Given the description of an element on the screen output the (x, y) to click on. 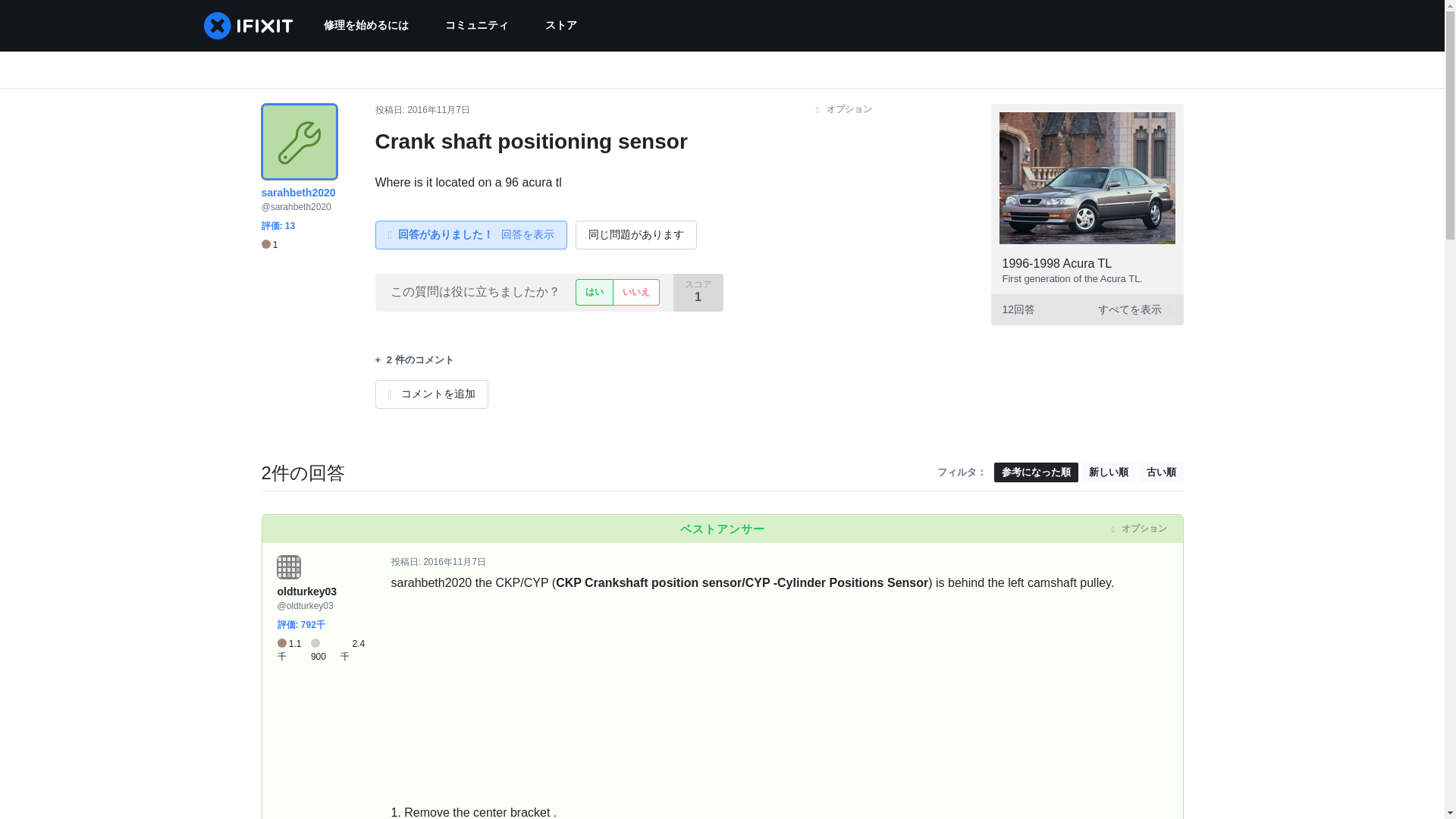
1 (269, 245)
1996-1998 Acura TL (1057, 263)
Mon, 07 Nov 2016 20:14:16 -0700 (454, 561)
Mon, 07 Nov 2016 10:59:32 -0700 (438, 109)
